Given the description of an element on the screen output the (x, y) to click on. 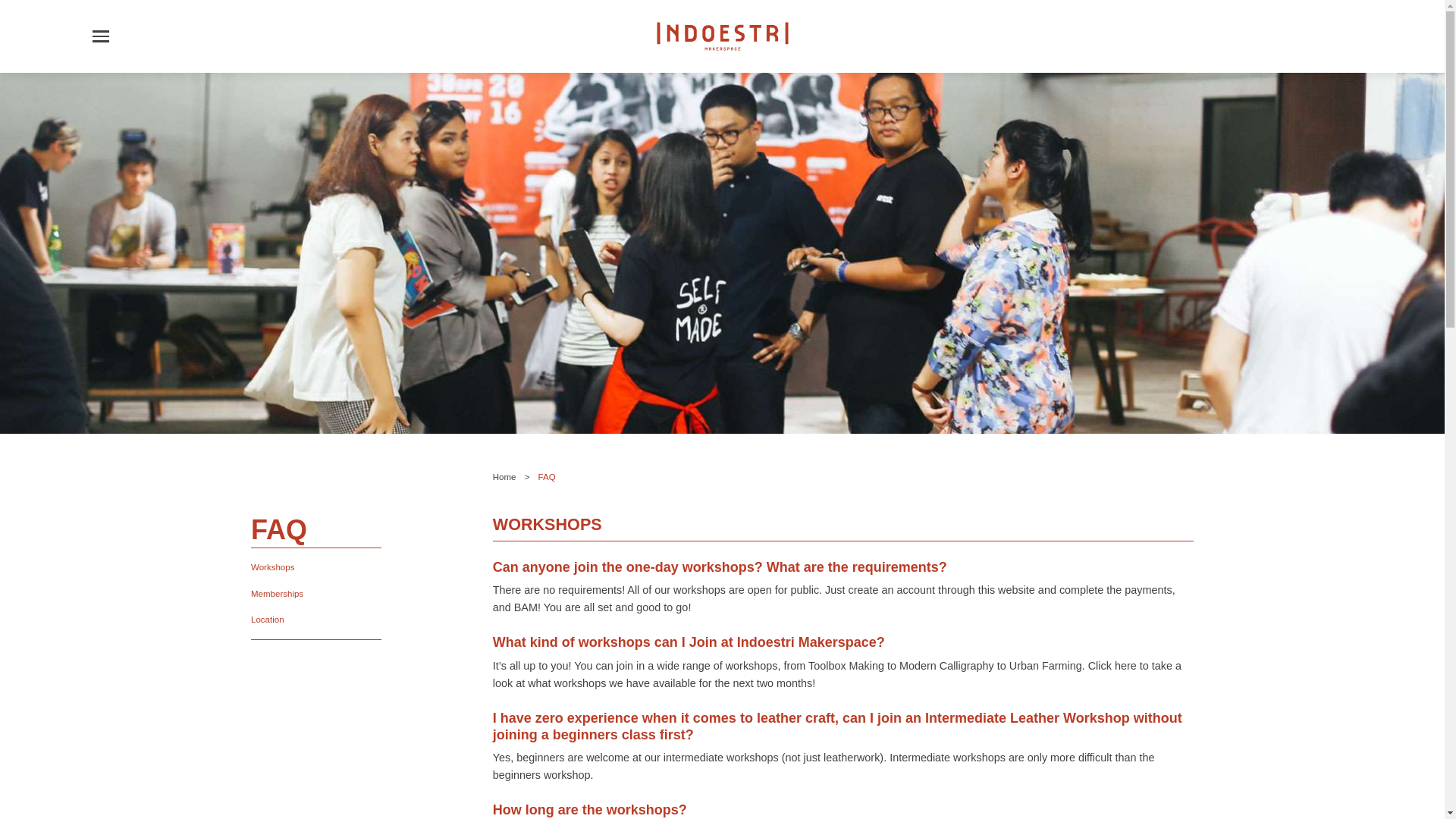
WORKSHOPS (843, 483)
